Given the description of an element on the screen output the (x, y) to click on. 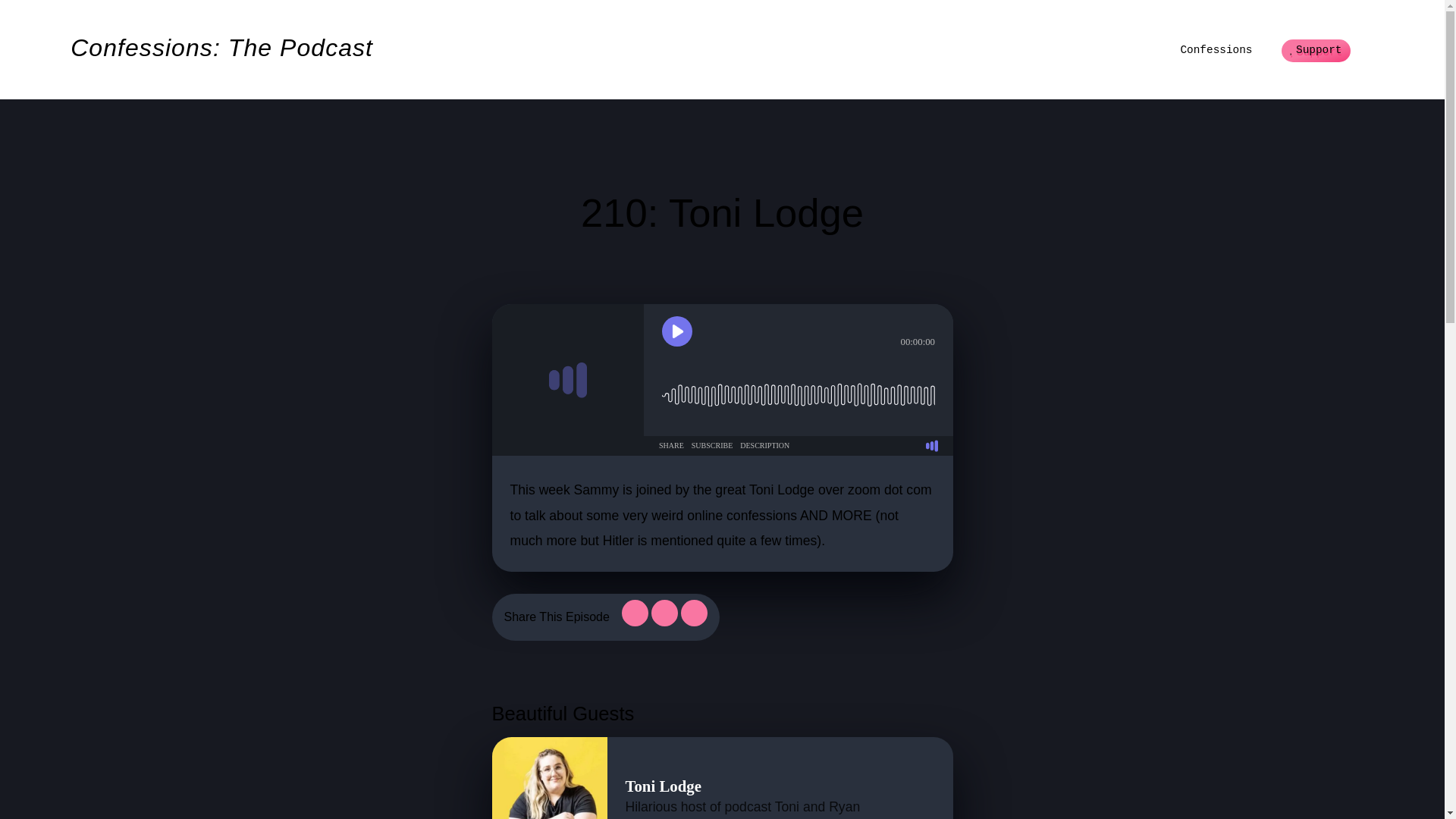
Toni Lodge (662, 786)
Confessions: The Podcast (220, 49)
Support (1316, 51)
Confessions (1215, 50)
